Given the description of an element on the screen output the (x, y) to click on. 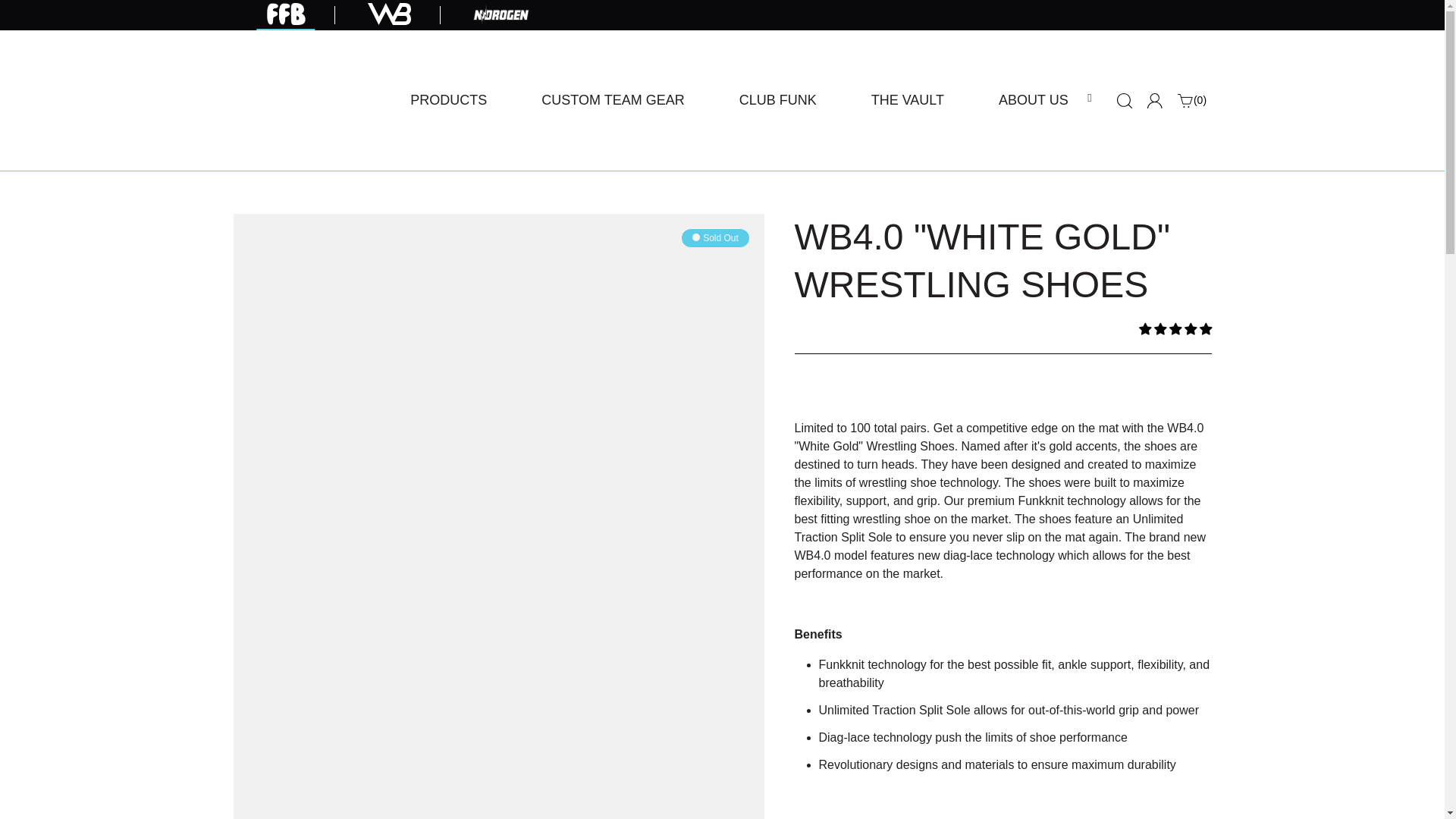
Learn More about Products on Funky Flickr Boyz Gear (447, 100)
Learn More about Custom team gear on Funky Flickr Boyz Gear (612, 100)
Learn More about The Vault on Funky Flickr Boyz Gear (907, 100)
Funky Flickr Boyz Gear (300, 99)
ABOUT US (447, 100)
Learn More about Club Funk on Funky Flickr Boyz Gear (1033, 100)
